Given the description of an element on the screen output the (x, y) to click on. 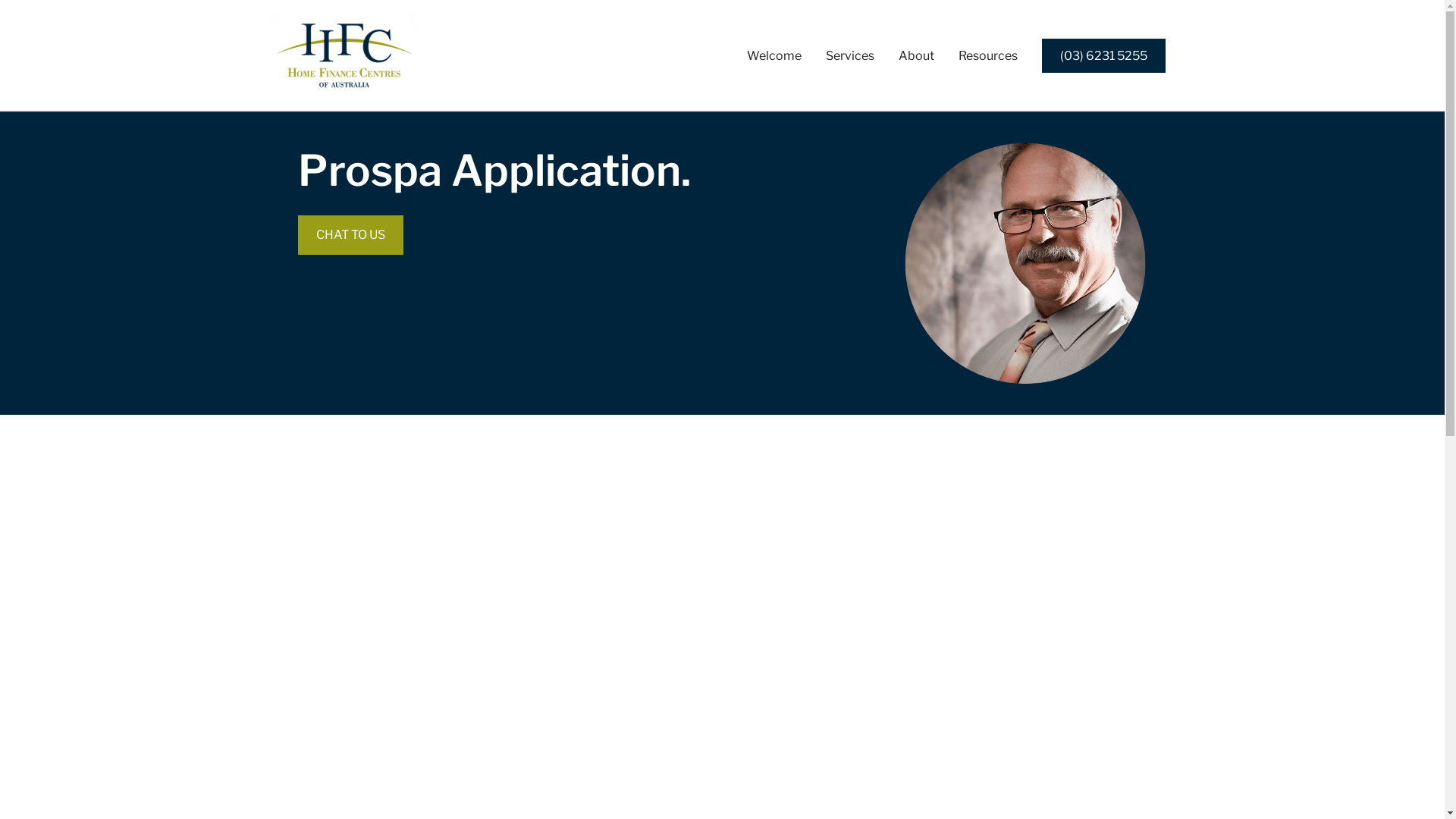
(03) 6231 5255 Element type: text (1103, 55)
CHAT TO US Element type: text (349, 234)
Welcome Element type: text (773, 55)
Services Element type: text (848, 55)
Resources Element type: text (987, 55)
About Element type: text (915, 55)
